Given the description of an element on the screen output the (x, y) to click on. 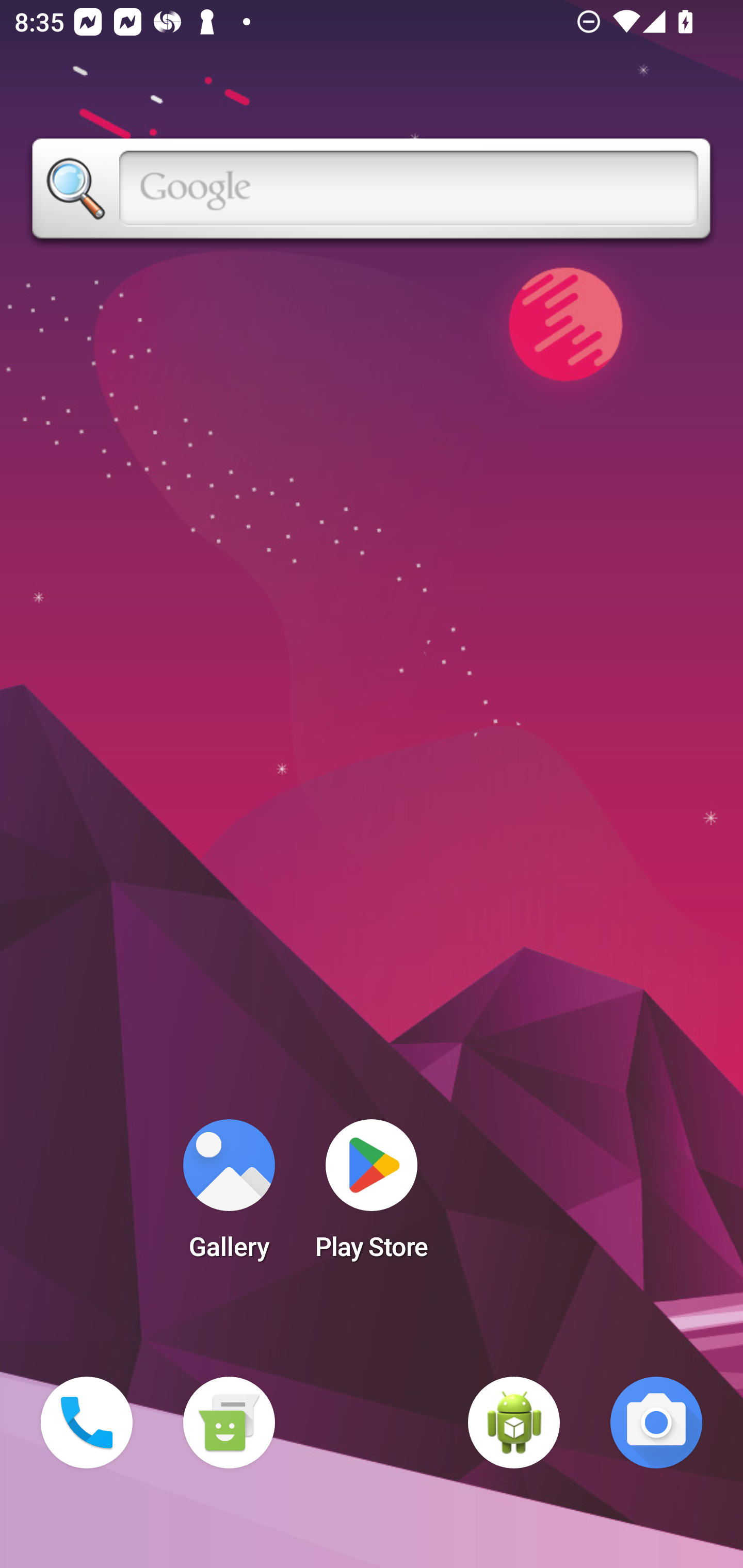
Gallery (228, 1195)
Play Store (371, 1195)
Phone (86, 1422)
Messaging (228, 1422)
WebView Browser Tester (513, 1422)
Camera (656, 1422)
